Given the description of an element on the screen output the (x, y) to click on. 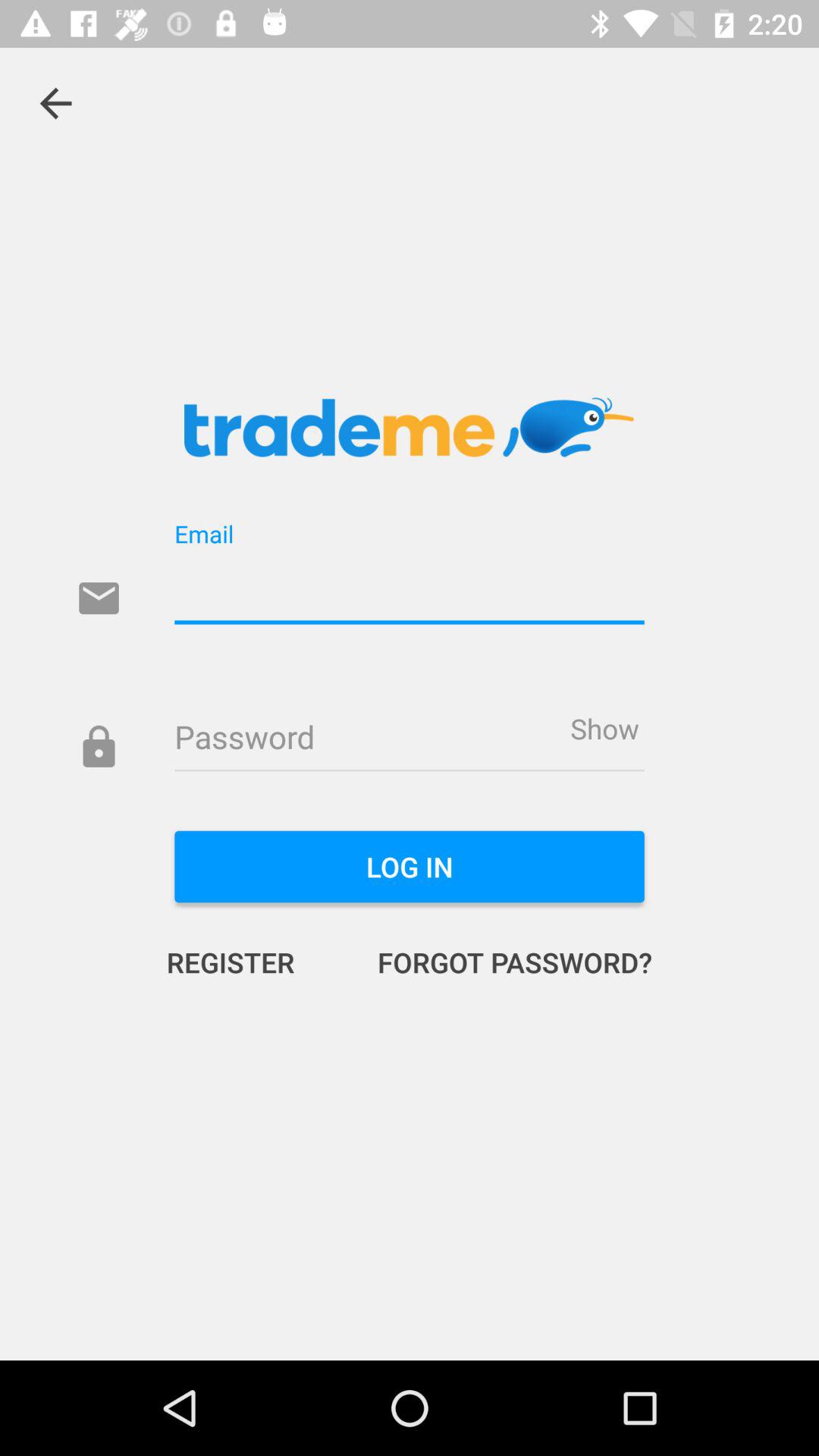
tap the icon below log in item (498, 962)
